Given the description of an element on the screen output the (x, y) to click on. 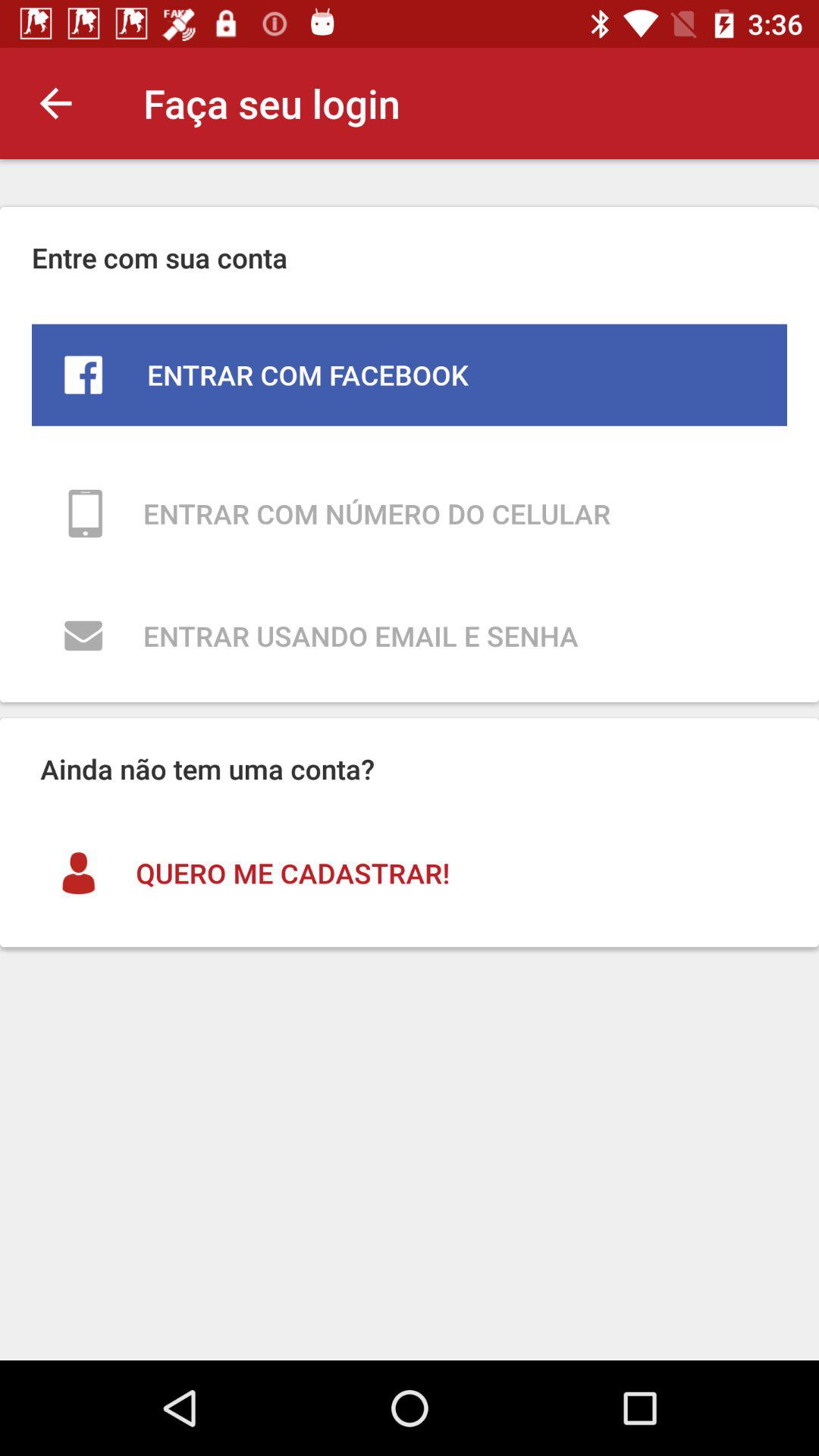
choose the quero me cadastrar! icon (409, 873)
